Given the description of an element on the screen output the (x, y) to click on. 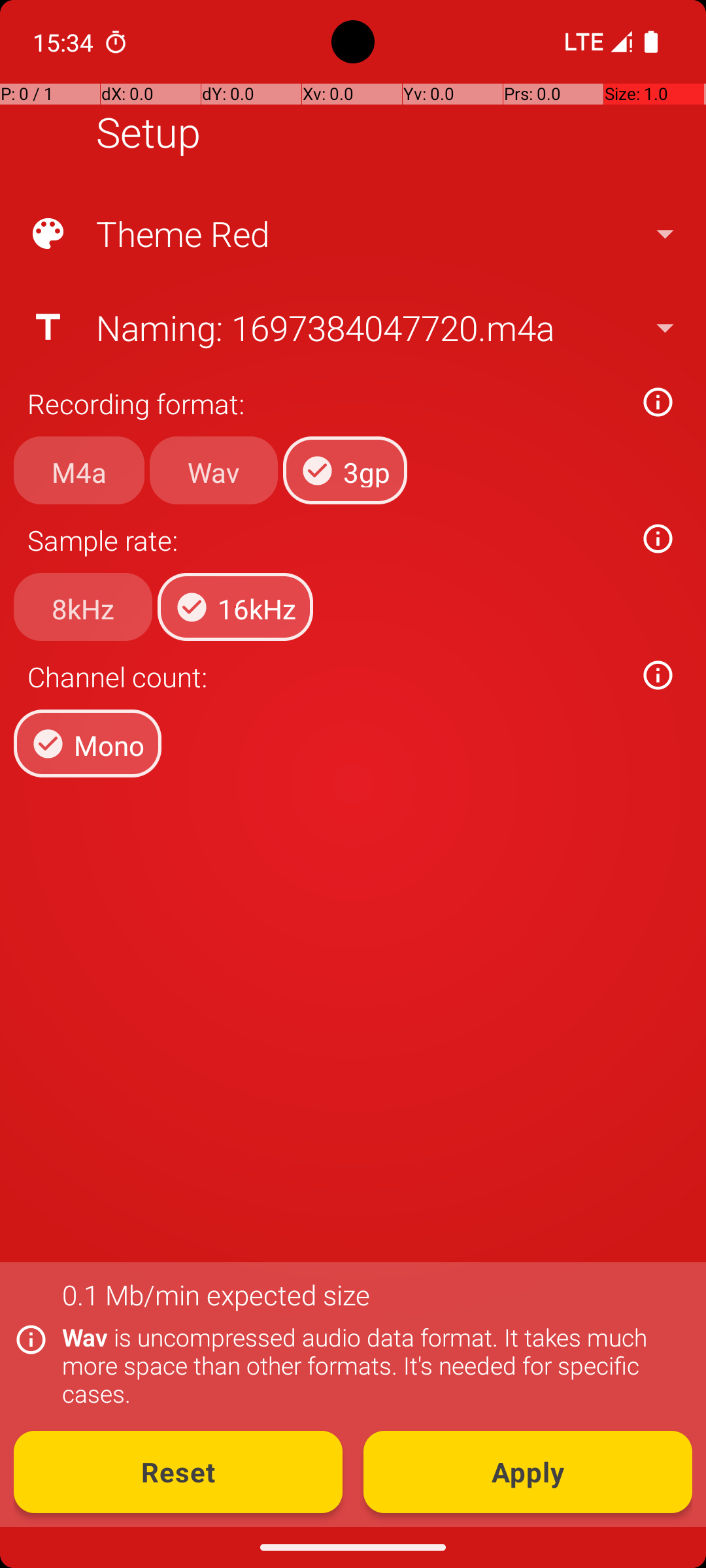
0.1 Mb/min expected size Element type: android.widget.TextView (215, 1294)
Wav is uncompressed audio data format. It takes much more space than other formats. It's needed for specific cases. Element type: android.widget.TextView (370, 1364)
Theme Red Element type: android.widget.TextView (352, 233)
Naming: 1697384047720.m4a Element type: android.widget.TextView (352, 327)
Clock notification:  Element type: android.widget.ImageView (115, 41)
Phone signal full. Element type: android.widget.FrameLayout (595, 41)
